Given the description of an element on the screen output the (x, y) to click on. 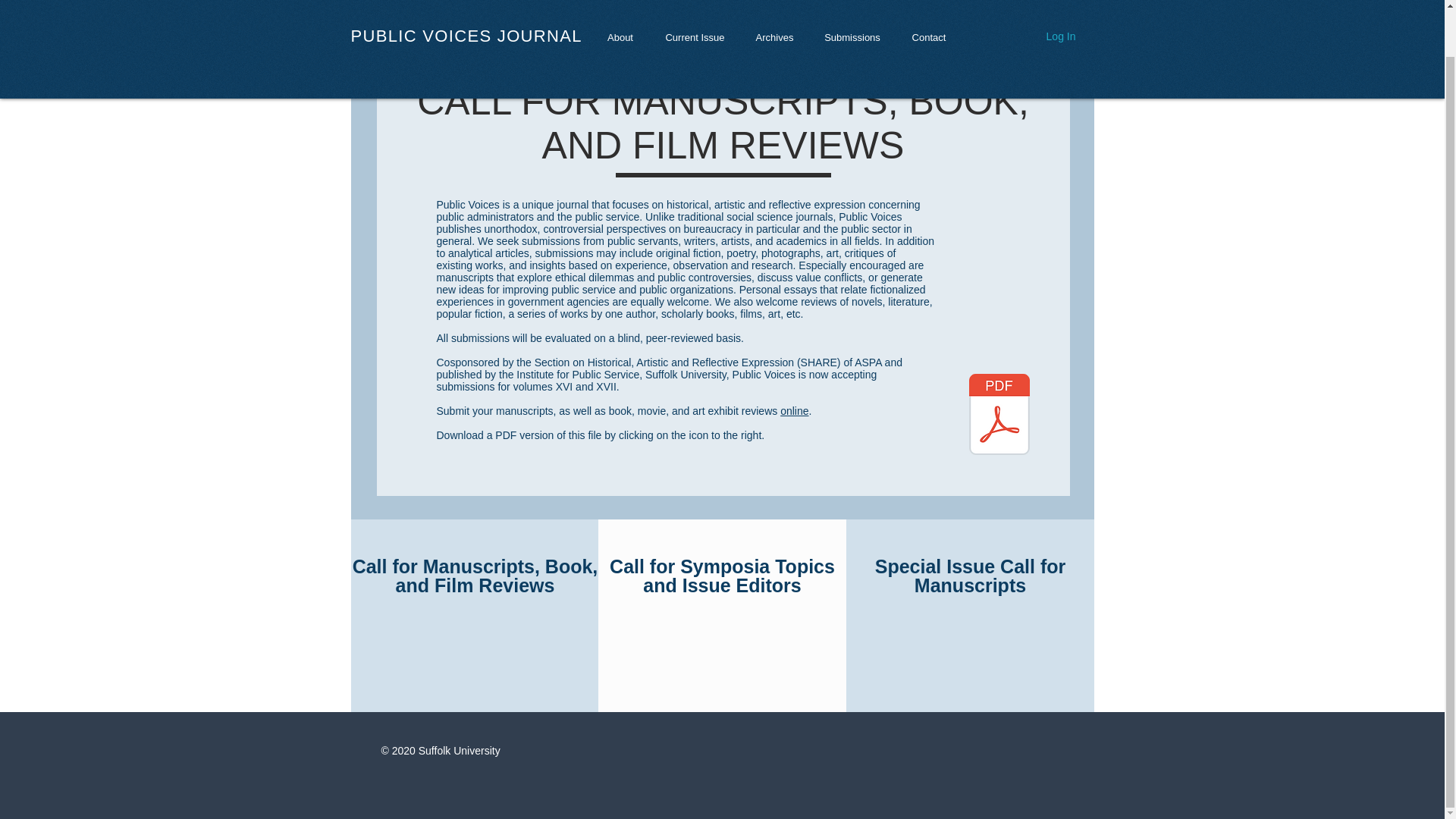
Call for Symposia Topics and Issue Editors (722, 576)
Special Issue Call for Manuscripts (970, 576)
online (794, 410)
